Given the description of an element on the screen output the (x, y) to click on. 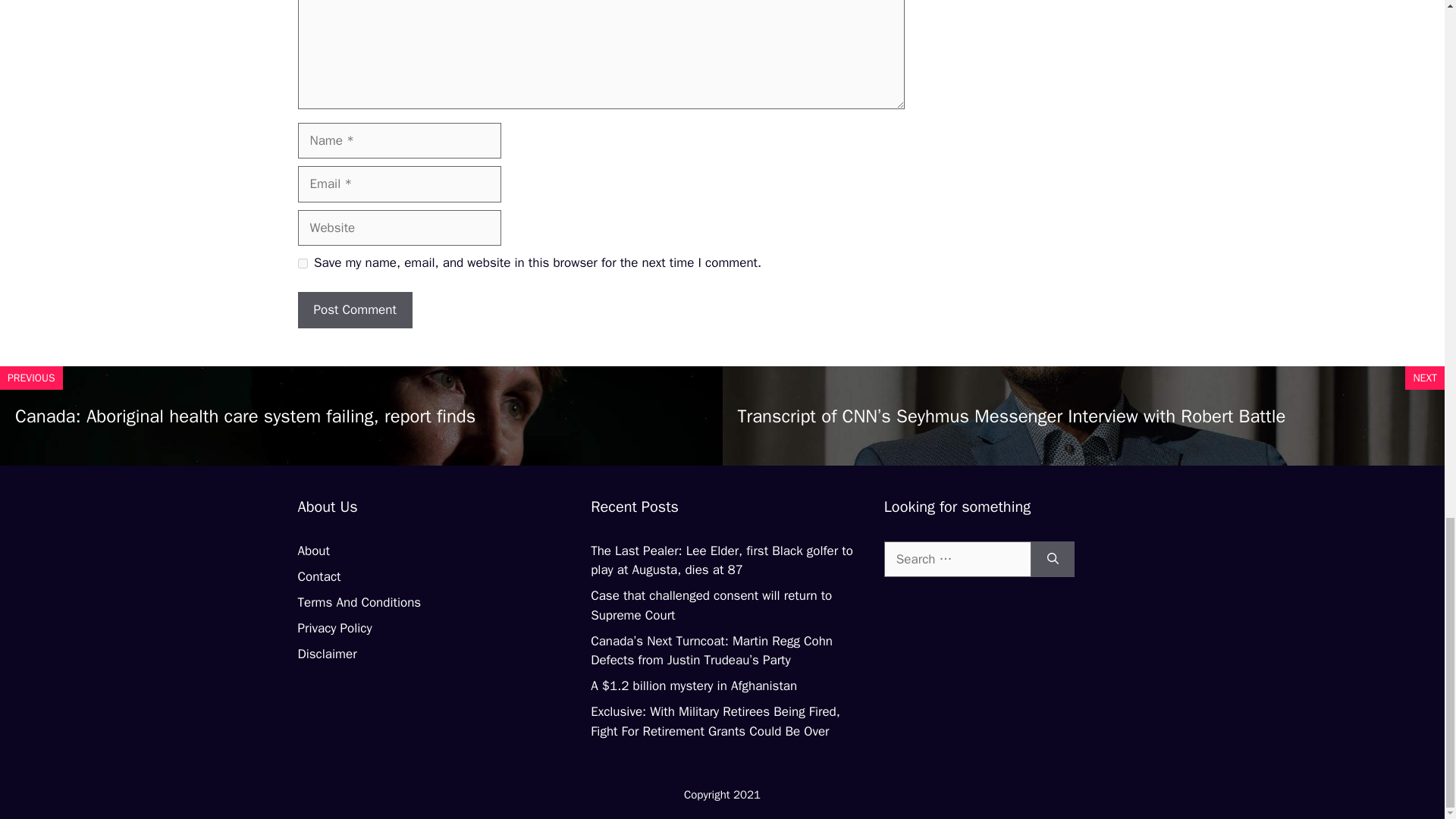
yes (302, 263)
Canada: Aboriginal health care system failing, report finds (245, 415)
Post Comment (354, 309)
Search for: (956, 559)
About (313, 550)
Post Comment (354, 309)
Contact (318, 576)
Terms And Conditions (358, 602)
